Given the description of an element on the screen output the (x, y) to click on. 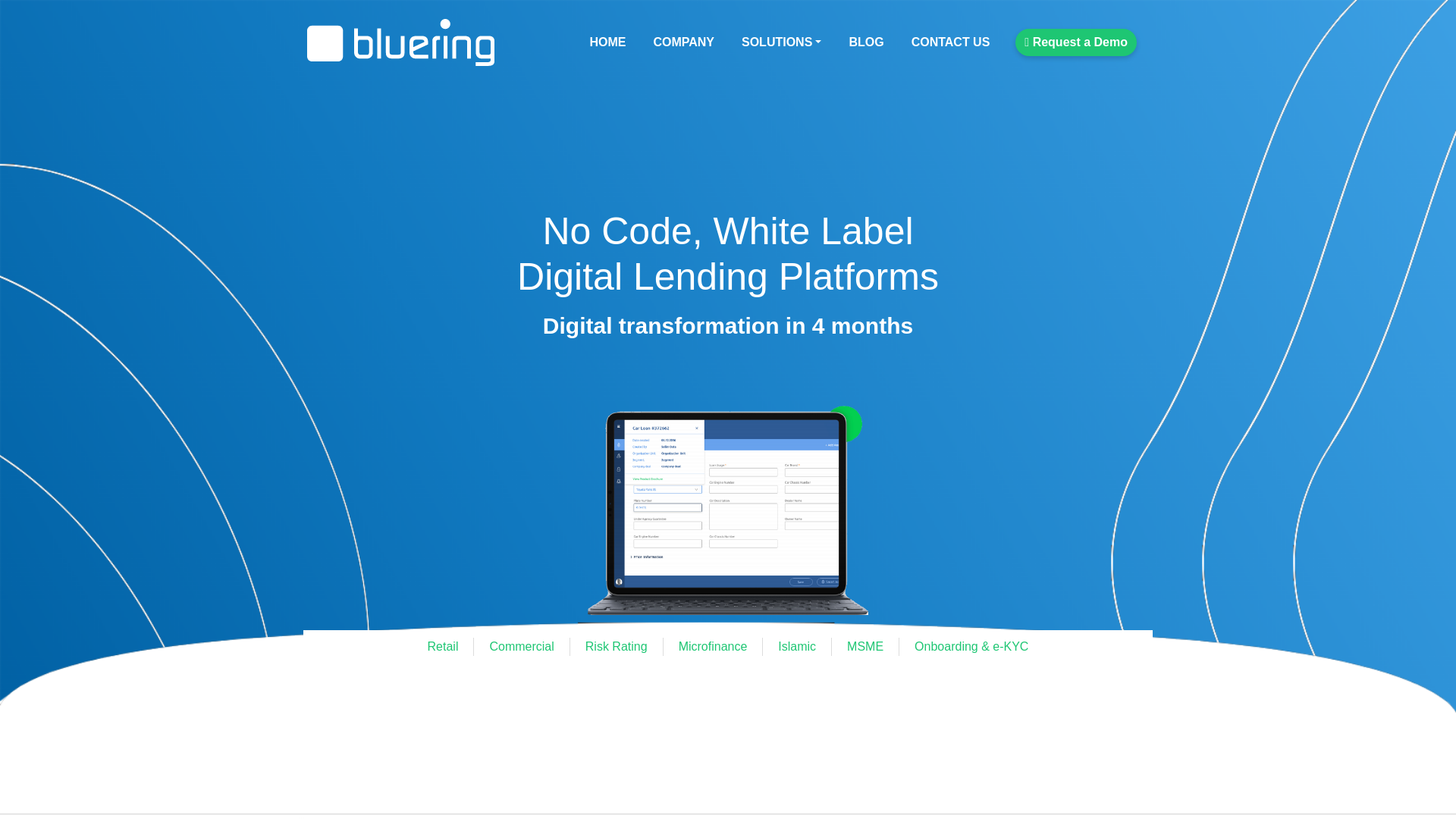
Retail (443, 647)
Bluering (401, 42)
Risk Rating (616, 647)
COMPANY (683, 42)
HOME (607, 42)
SOLUTIONS (781, 42)
CONTACT US (950, 42)
MSME (865, 647)
Microfinance (713, 647)
Commercial (521, 647)
Request a Demo (1075, 42)
BLOG (866, 42)
Islamic (796, 647)
